Given the description of an element on the screen output the (x, y) to click on. 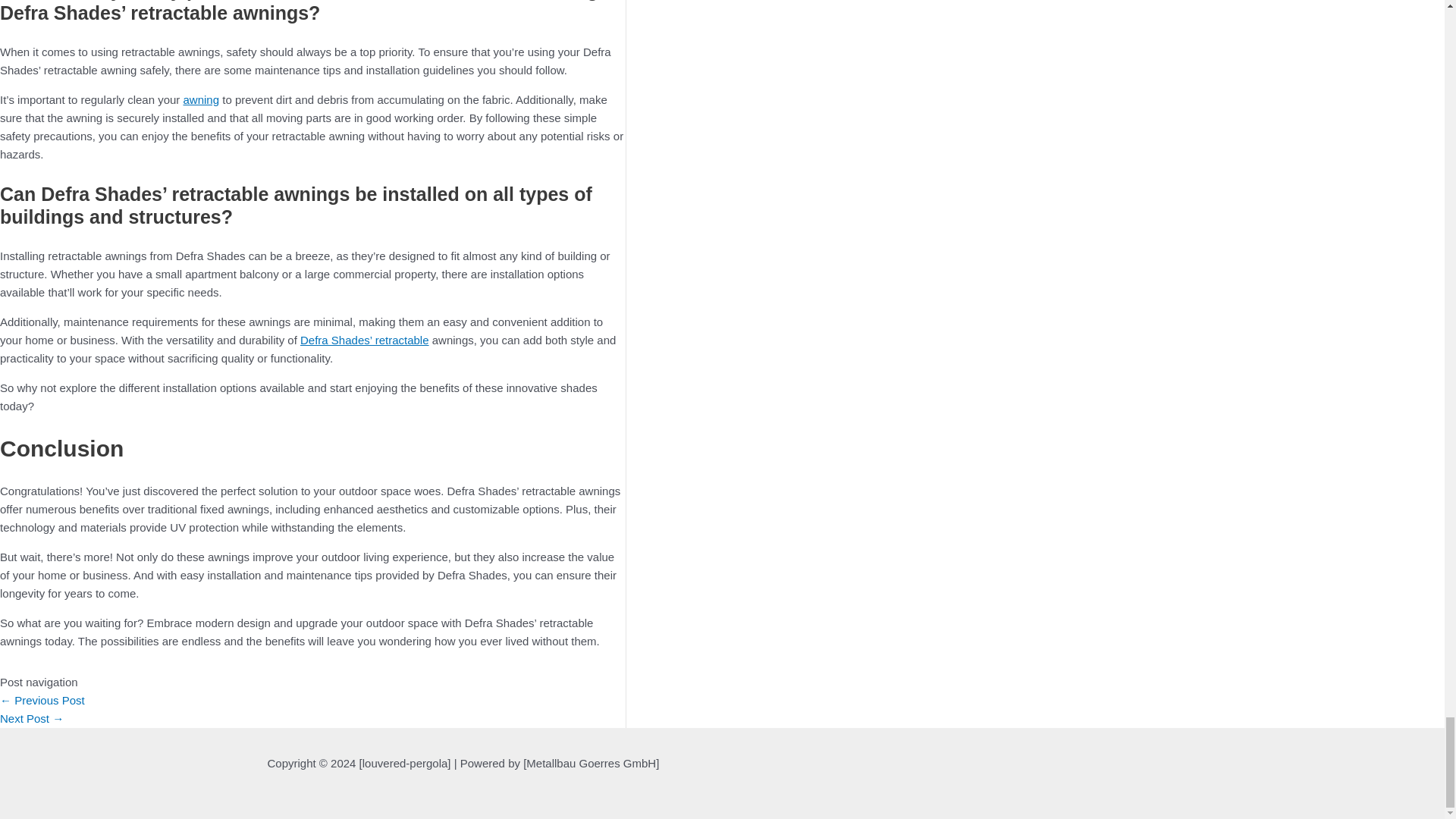
awning (201, 99)
